Given the description of an element on the screen output the (x, y) to click on. 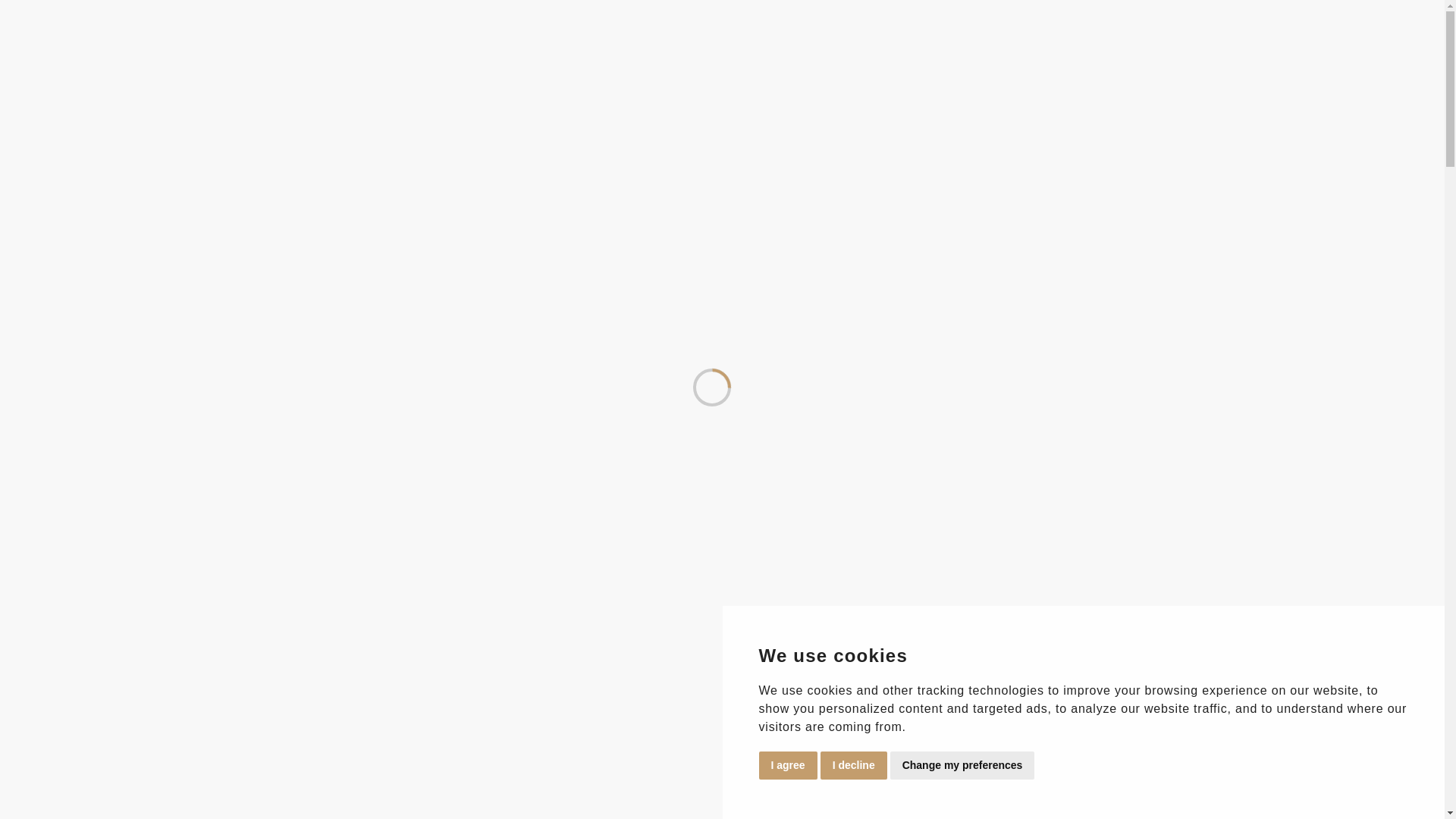
PRODUCTS (206, 229)
I decline (853, 765)
FABRICS (132, 229)
I agree (787, 765)
Cotton bedding set in Percalle Maranello  (159, 648)
WHO WE ARE (54, 229)
Change my preferences (962, 765)
eng flag (508, 195)
ECO friendly (534, 195)
